Given the description of an element on the screen output the (x, y) to click on. 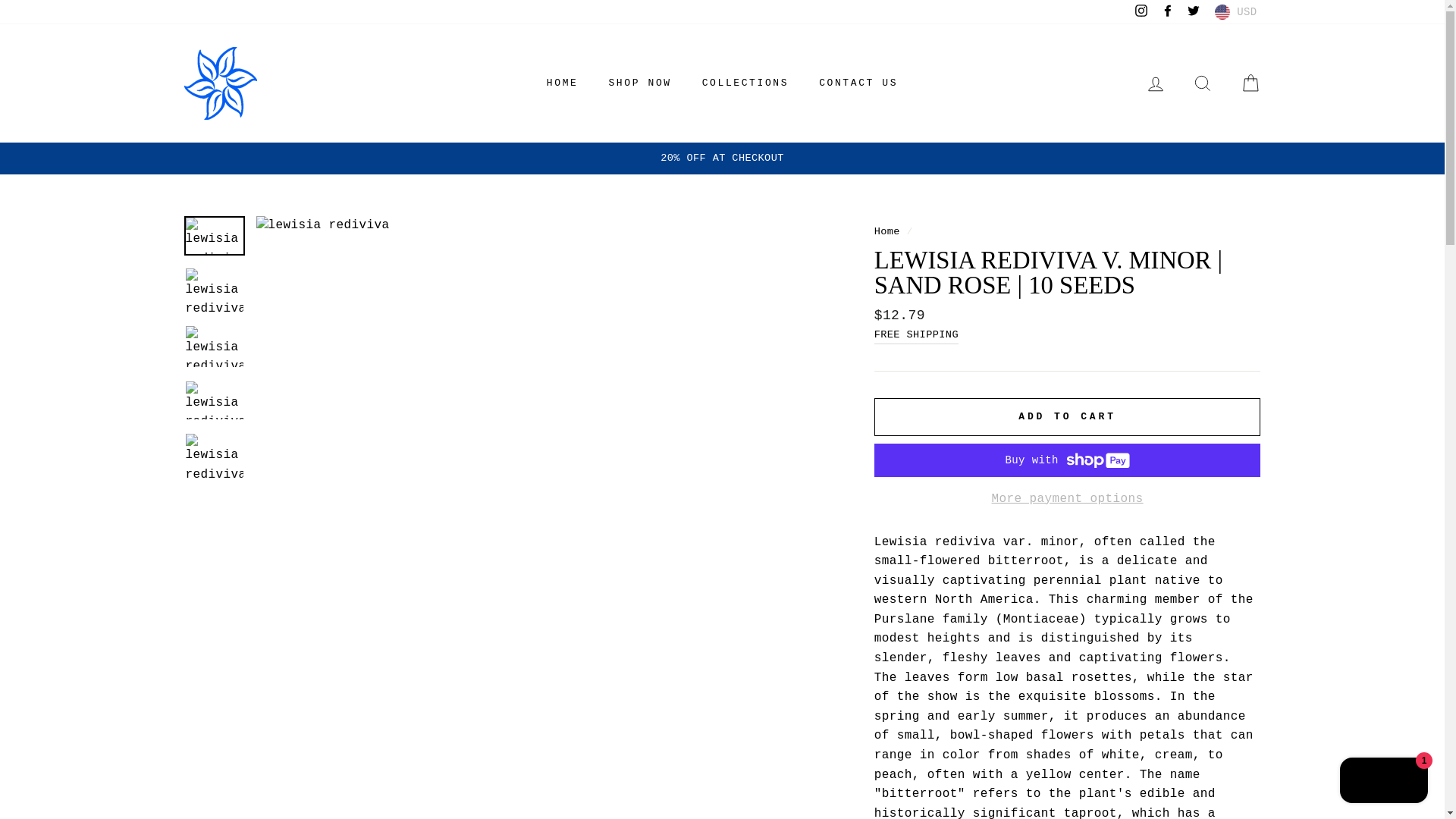
Shopify online store chat (1383, 781)
USD (1235, 12)
HOME (562, 83)
COLLECTIONS (744, 83)
SHOP NOW (639, 83)
Back to the frontpage (887, 231)
